Given the description of an element on the screen output the (x, y) to click on. 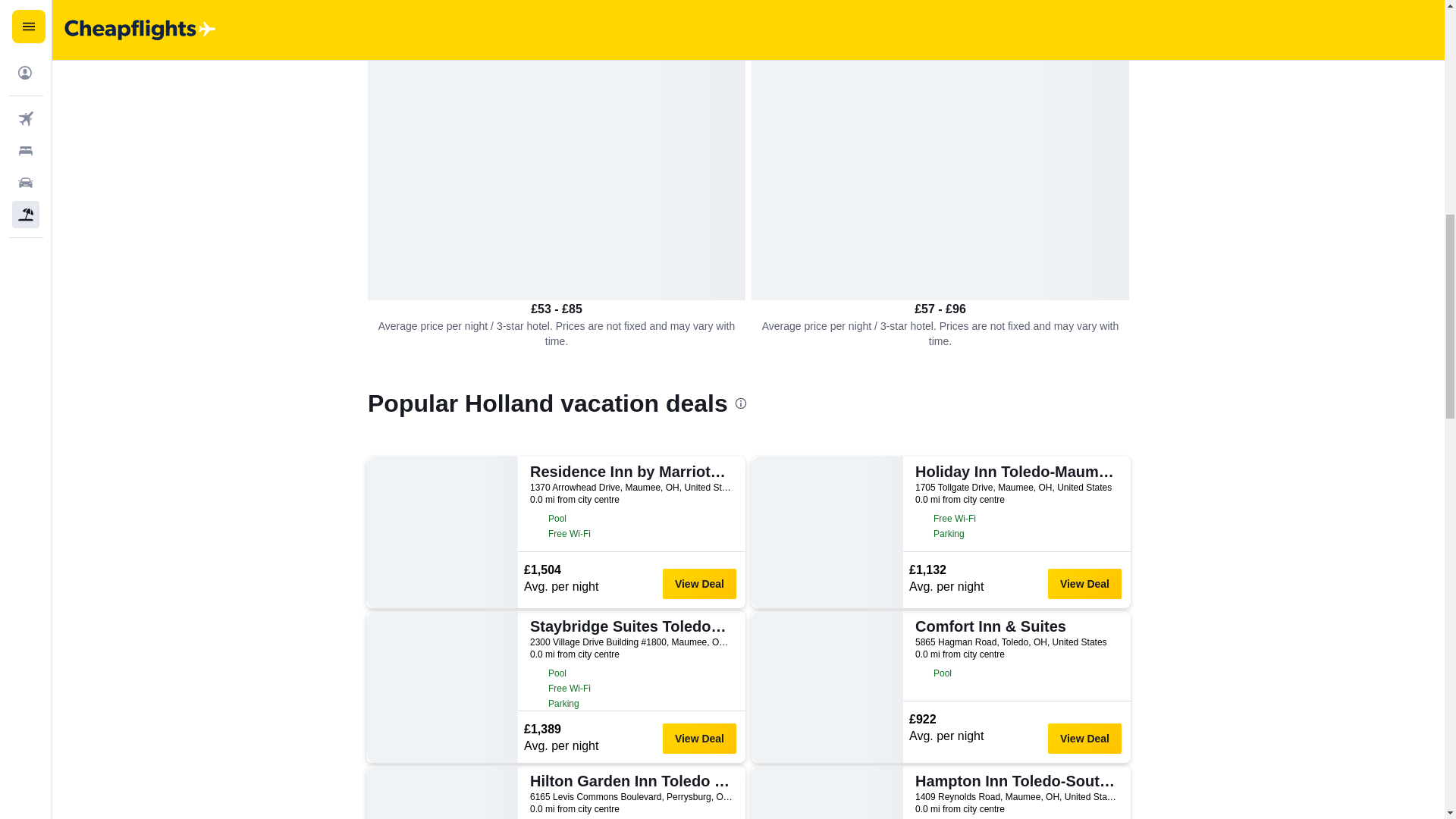
Hilton Garden Inn Toledo Perrysburg (629, 781)
Staybridge Suites Toledo - Maumee (629, 626)
View Deal (1084, 583)
View Deal (699, 583)
View Deal (1084, 738)
View Deal (699, 738)
Residence Inn by Marriott Toledo Maumee (629, 471)
